Given the description of an element on the screen output the (x, y) to click on. 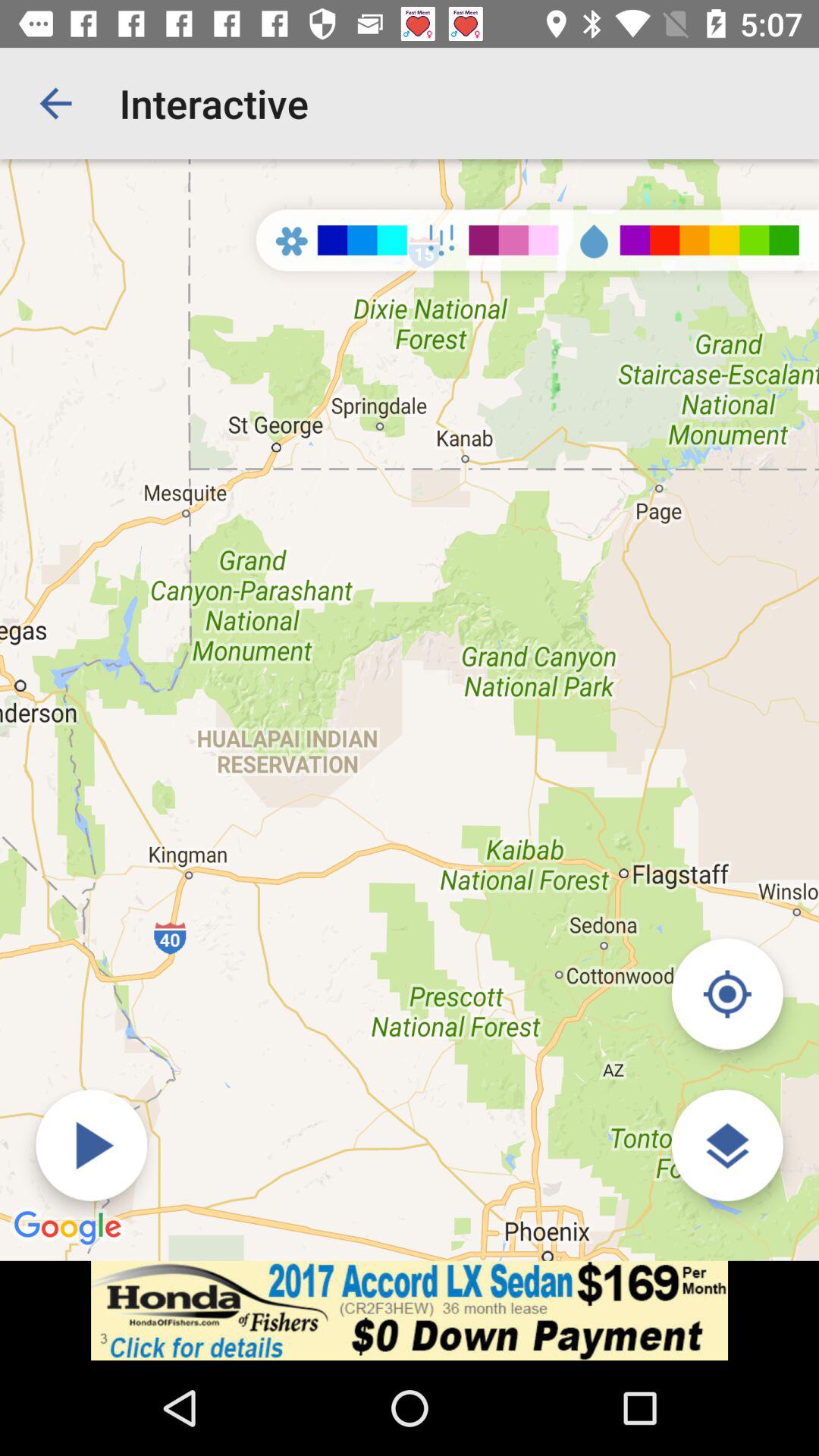
edit viewing preferences (727, 1145)
